Given the description of an element on the screen output the (x, y) to click on. 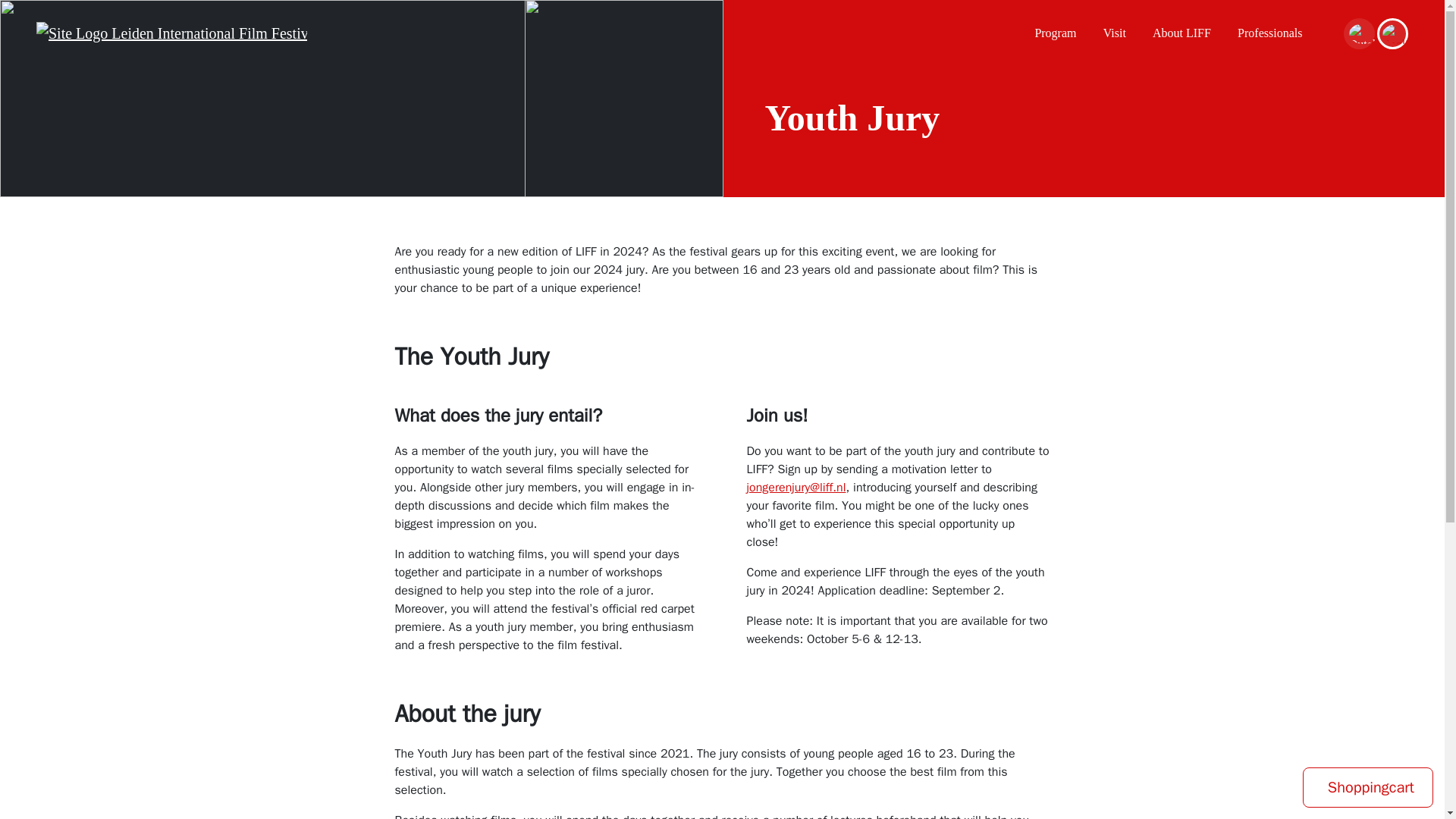
Shoppingcart (1367, 787)
About LIFF (1181, 33)
Program (1054, 33)
Professionals (1269, 33)
Visit (1114, 33)
